Given the description of an element on the screen output the (x, y) to click on. 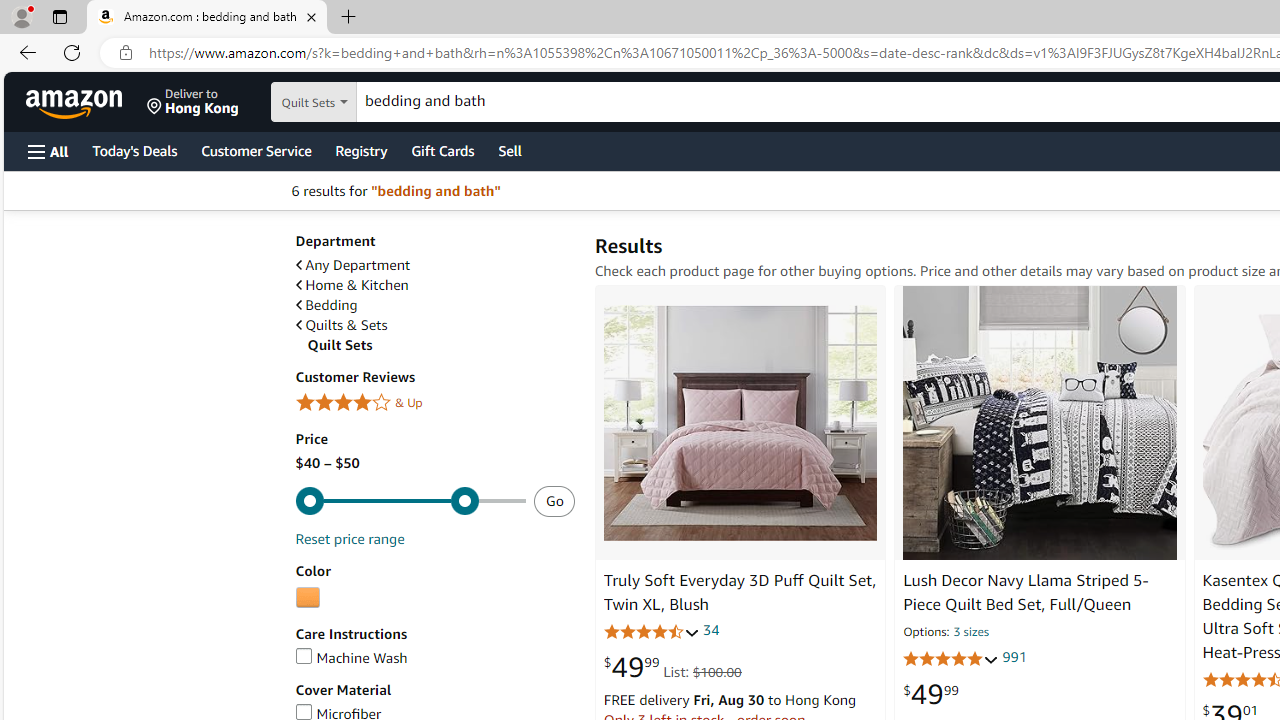
Customer Service (256, 150)
Amazon (76, 101)
4.3 out of 5 stars (651, 631)
Home & Kitchen (434, 285)
Open Menu (48, 151)
Minimum (410, 500)
Home & Kitchen (351, 285)
$49.99 List: $100.00 (672, 666)
Quilt Sets (440, 345)
Maximum (410, 500)
Quilts & Sets (340, 325)
Machine Wash (351, 658)
